Given the description of an element on the screen output the (x, y) to click on. 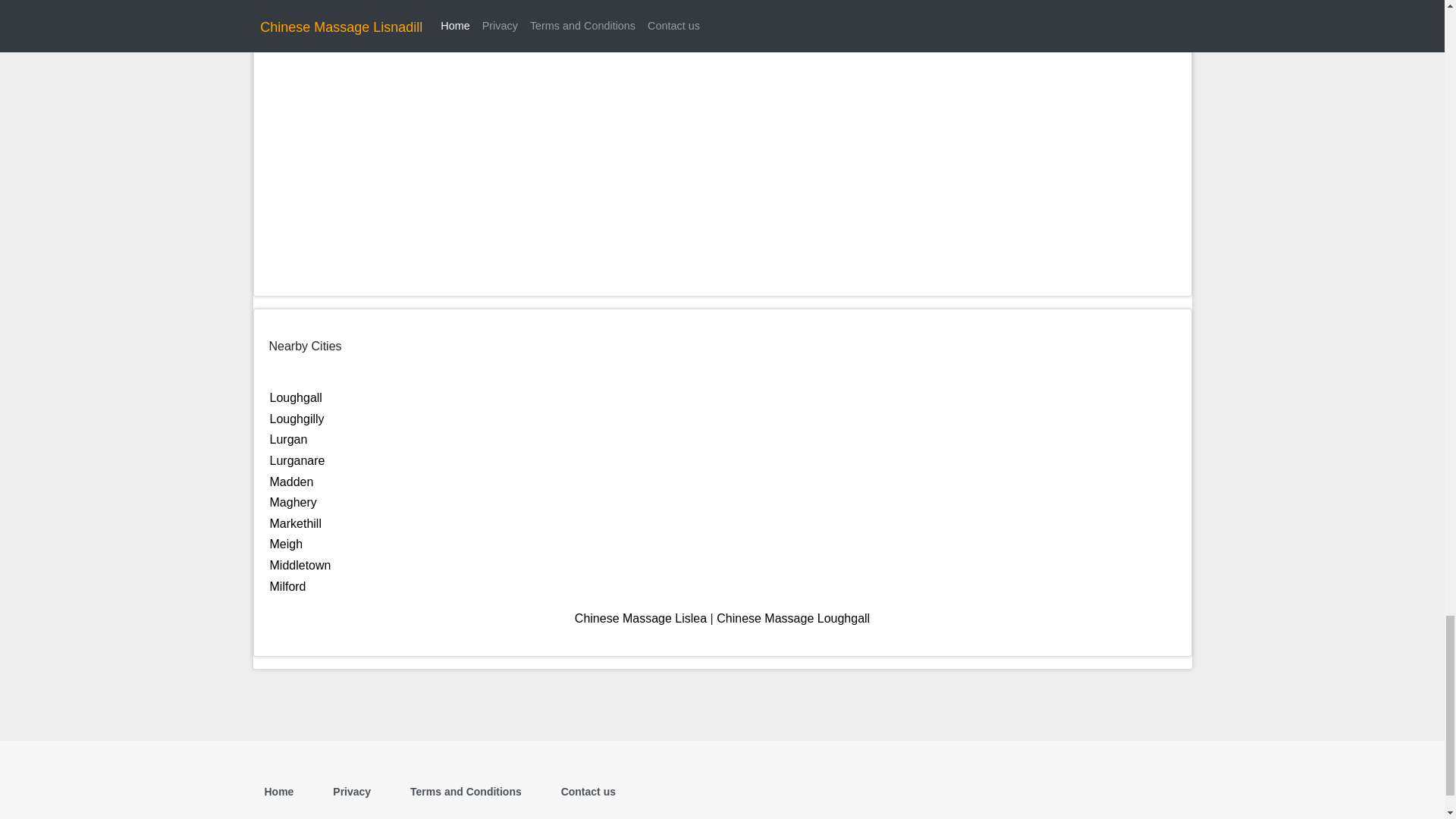
Middletown (300, 564)
Lurgan (288, 439)
Loughgilly (296, 418)
Markethill (295, 522)
Meigh (285, 543)
Chinese Massage Lislea (640, 617)
Lurganare (296, 460)
Loughgall (295, 397)
Milford (287, 585)
Chinese Massage Loughgall (792, 617)
Madden (291, 481)
Maghery (293, 502)
